Given the description of an element on the screen output the (x, y) to click on. 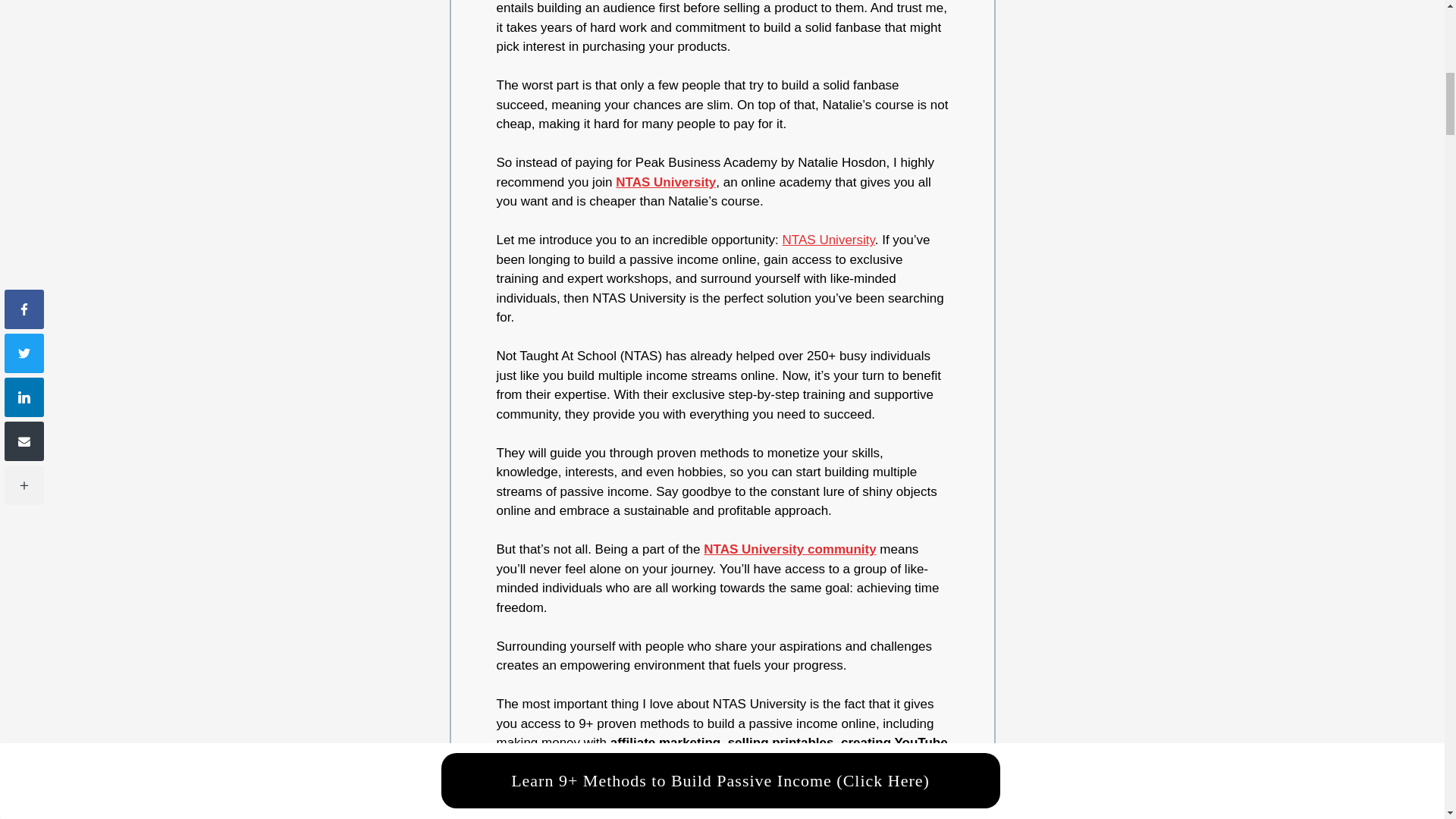
NTAS University (829, 239)
NTAS University community (789, 549)
NTAS University (665, 182)
